Given the description of an element on the screen output the (x, y) to click on. 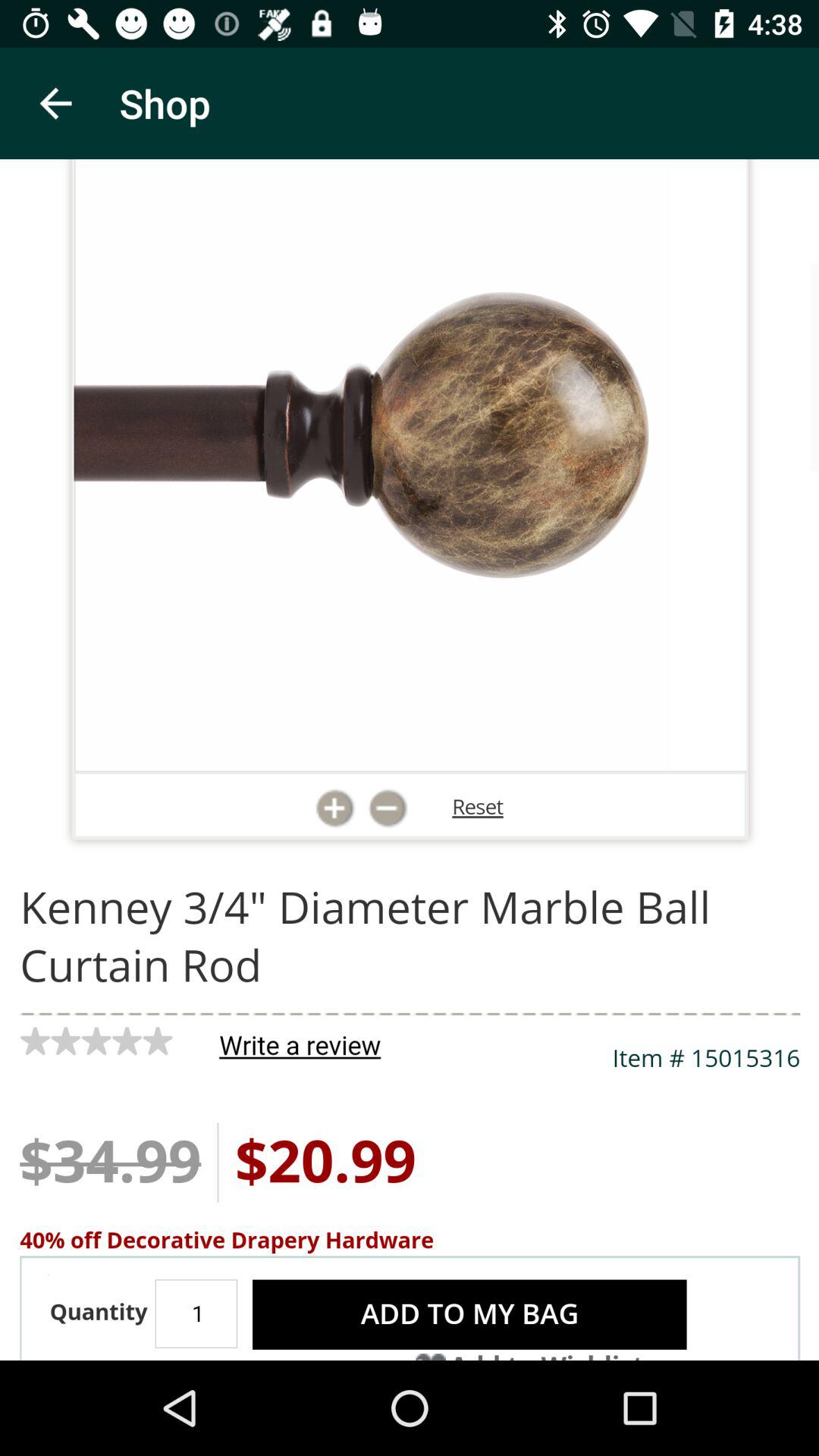
go back (55, 103)
